Given the description of an element on the screen output the (x, y) to click on. 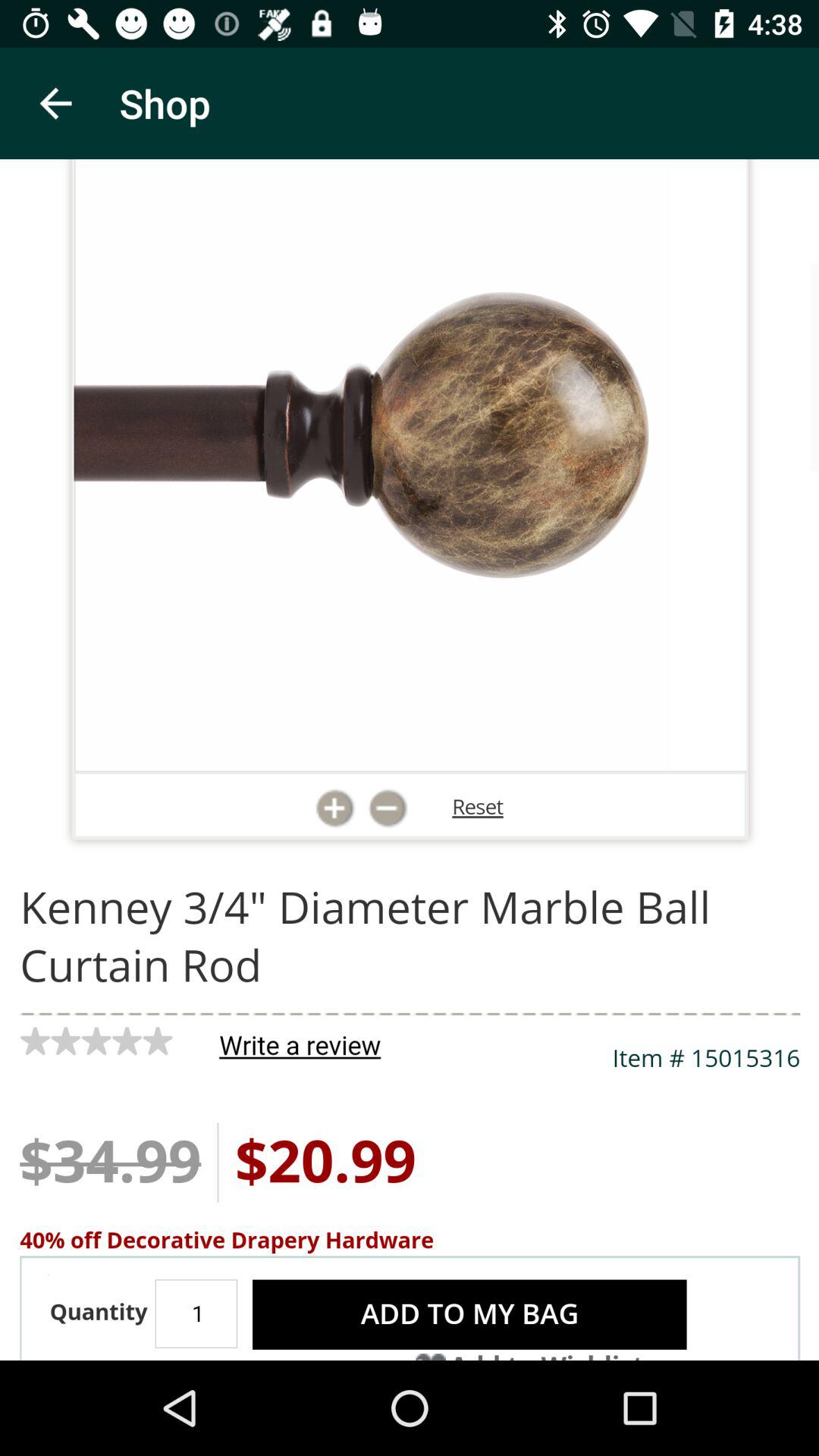
go back (55, 103)
